Given the description of an element on the screen output the (x, y) to click on. 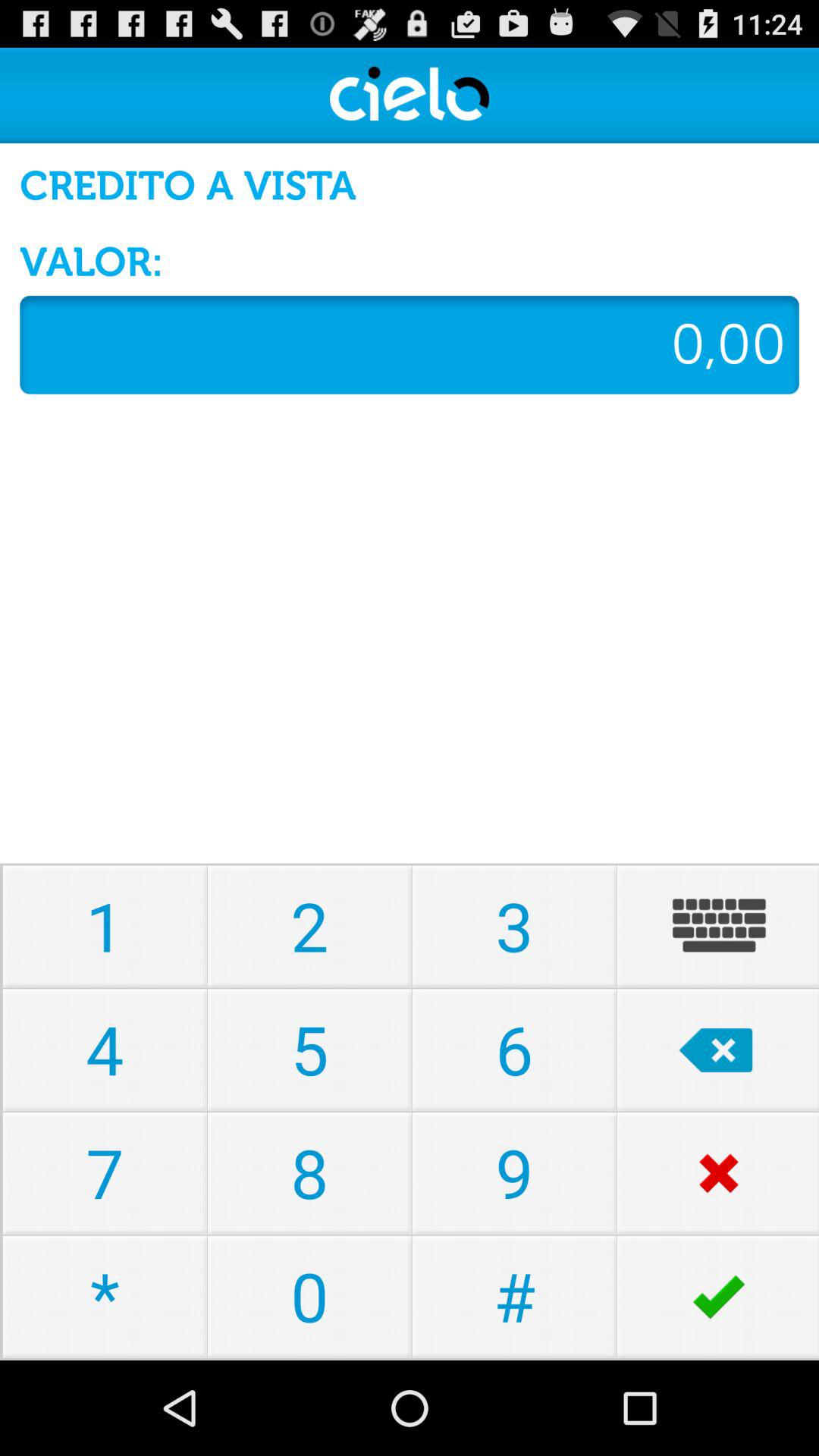
enter amount (409, 344)
